Given the description of an element on the screen output the (x, y) to click on. 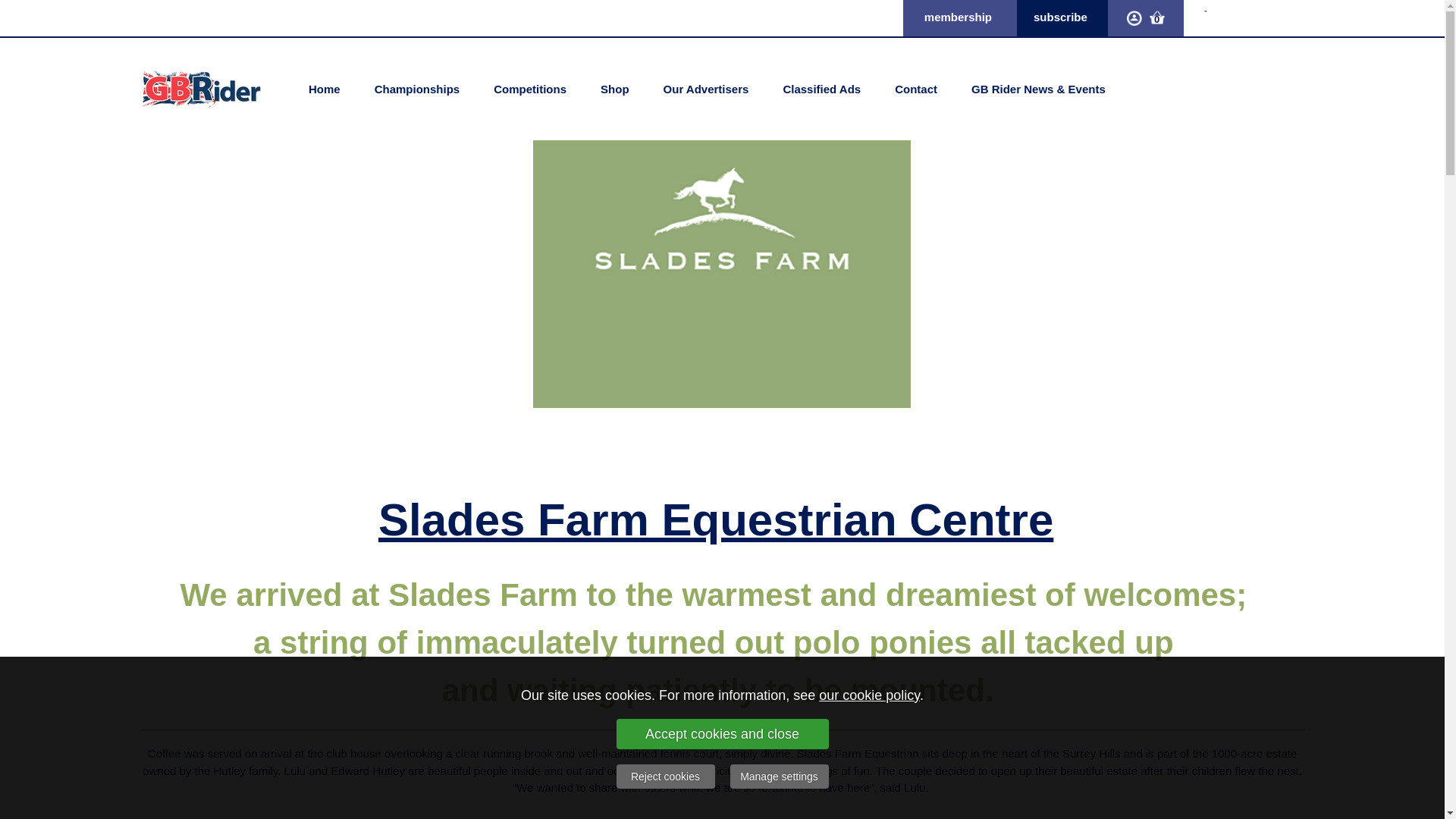
Shop (614, 88)
subscribe (1060, 16)
Our Advertisers (705, 88)
Classified Ads (821, 88)
membership (957, 16)
Home (323, 88)
Competitions (530, 88)
0 (1157, 16)
Contact (916, 88)
Championships (416, 88)
